Given the description of an element on the screen output the (x, y) to click on. 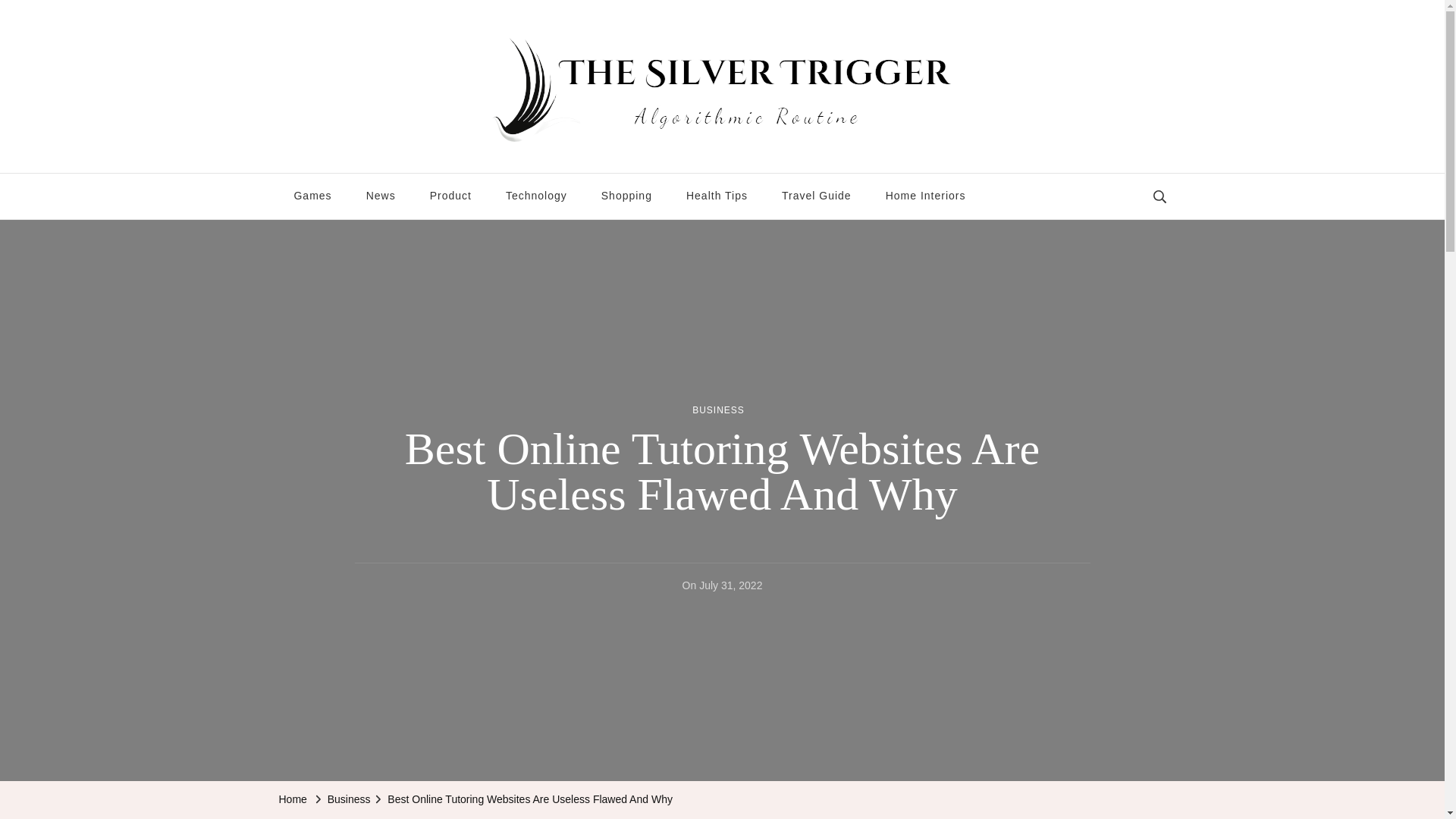
Games (312, 196)
Business (349, 799)
News (380, 196)
The Silver Trigger (374, 160)
July 31, 2022 (729, 585)
Best Online Tutoring Websites Are Useless Flawed And Why (529, 799)
Home Interiors (925, 196)
Health Tips (716, 196)
Home (293, 799)
Technology (536, 196)
BUSINESS (718, 410)
Shopping (626, 196)
Travel Guide (816, 196)
Product (450, 196)
